Given the description of an element on the screen output the (x, y) to click on. 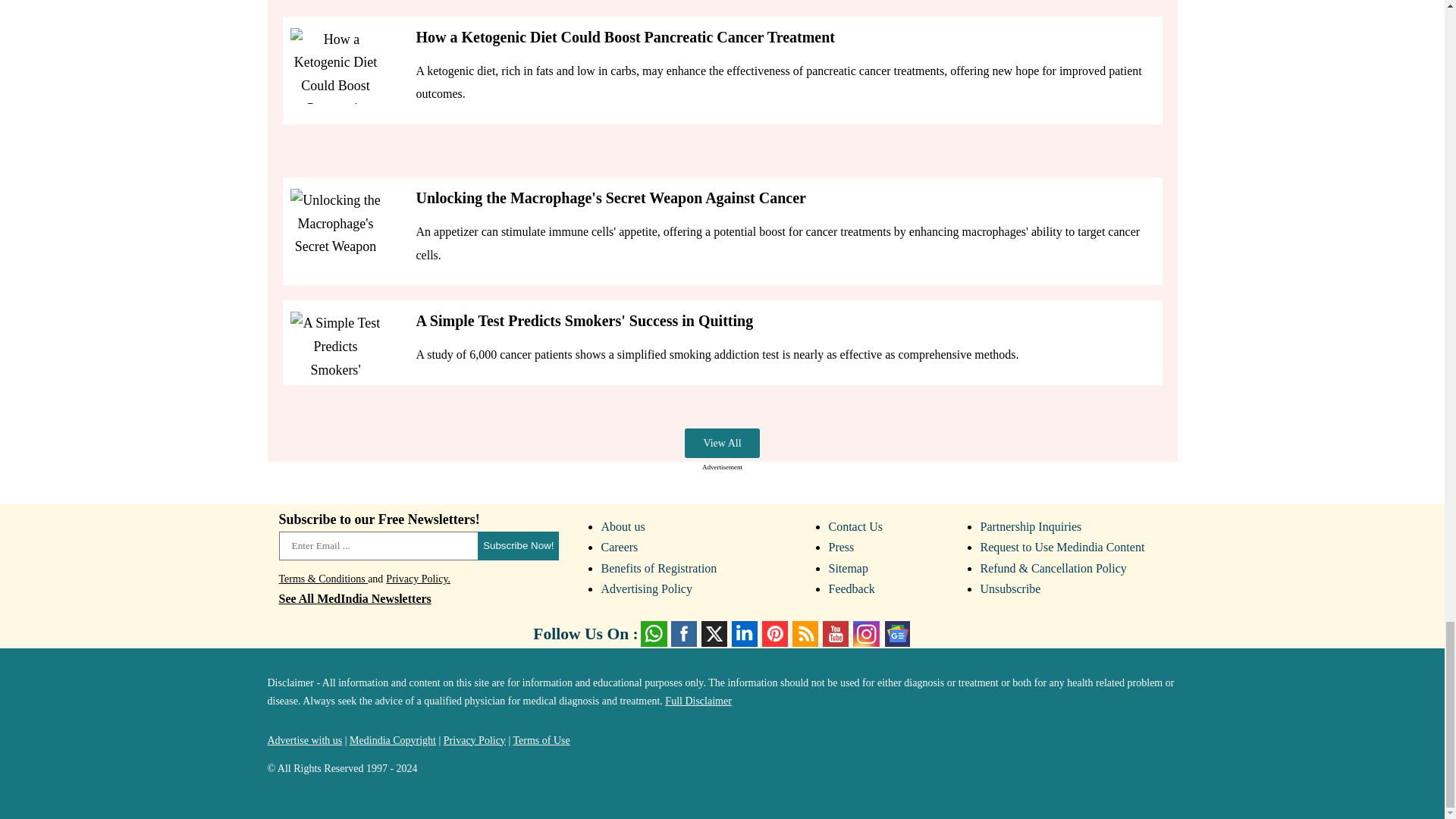
Subscribe Now! (518, 545)
Unlocking the Macrophage's Secret Weapon Against Cancer (334, 349)
UV Light Activated Antibodies to Fight Cancer Cells (334, 226)
